Given the description of an element on the screen output the (x, y) to click on. 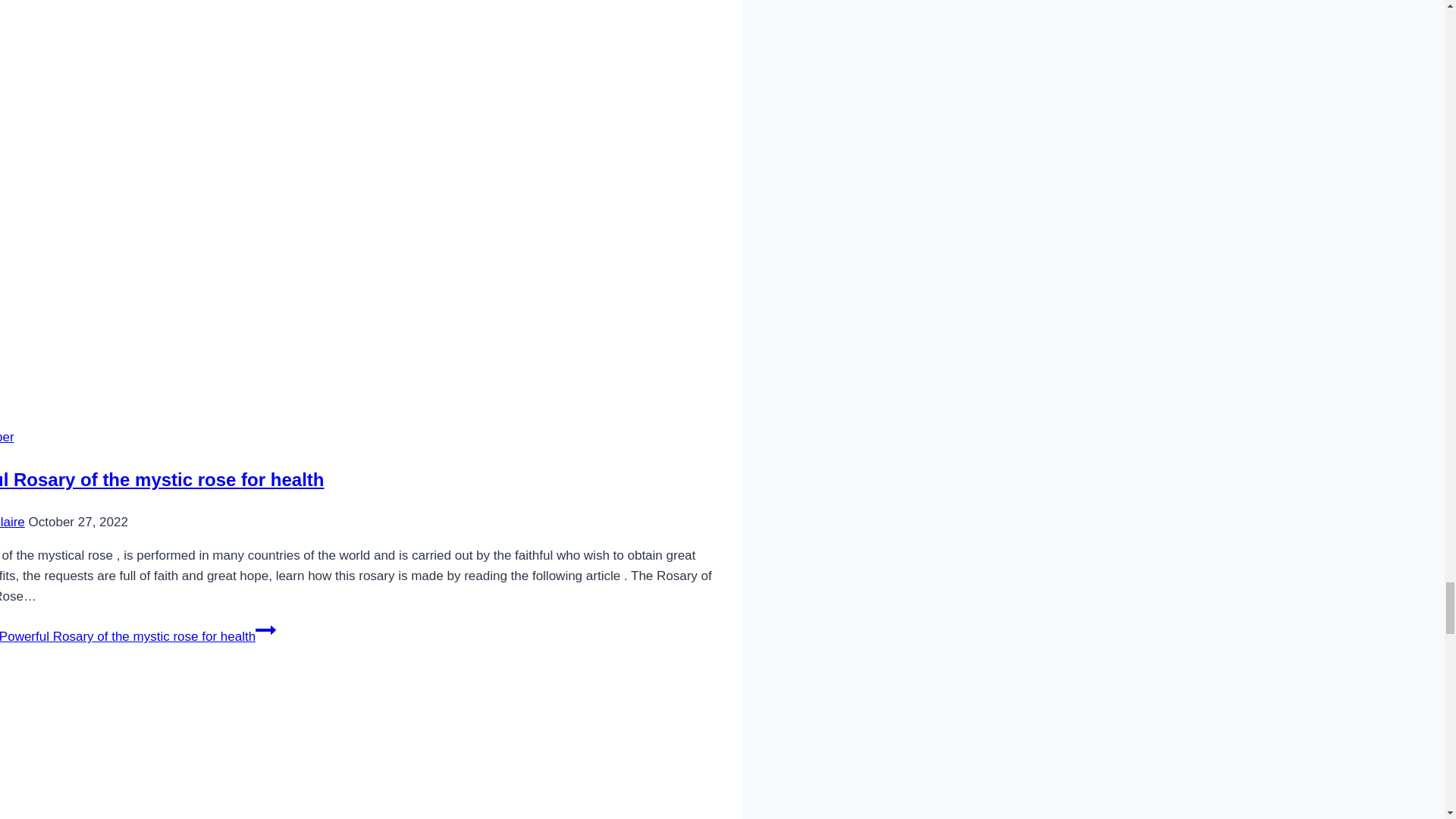
Kelly D Claire (12, 522)
Angel Number (7, 436)
Continue (266, 629)
Powerful Rosary of the mystic rose for health (161, 479)
